Given the description of an element on the screen output the (x, y) to click on. 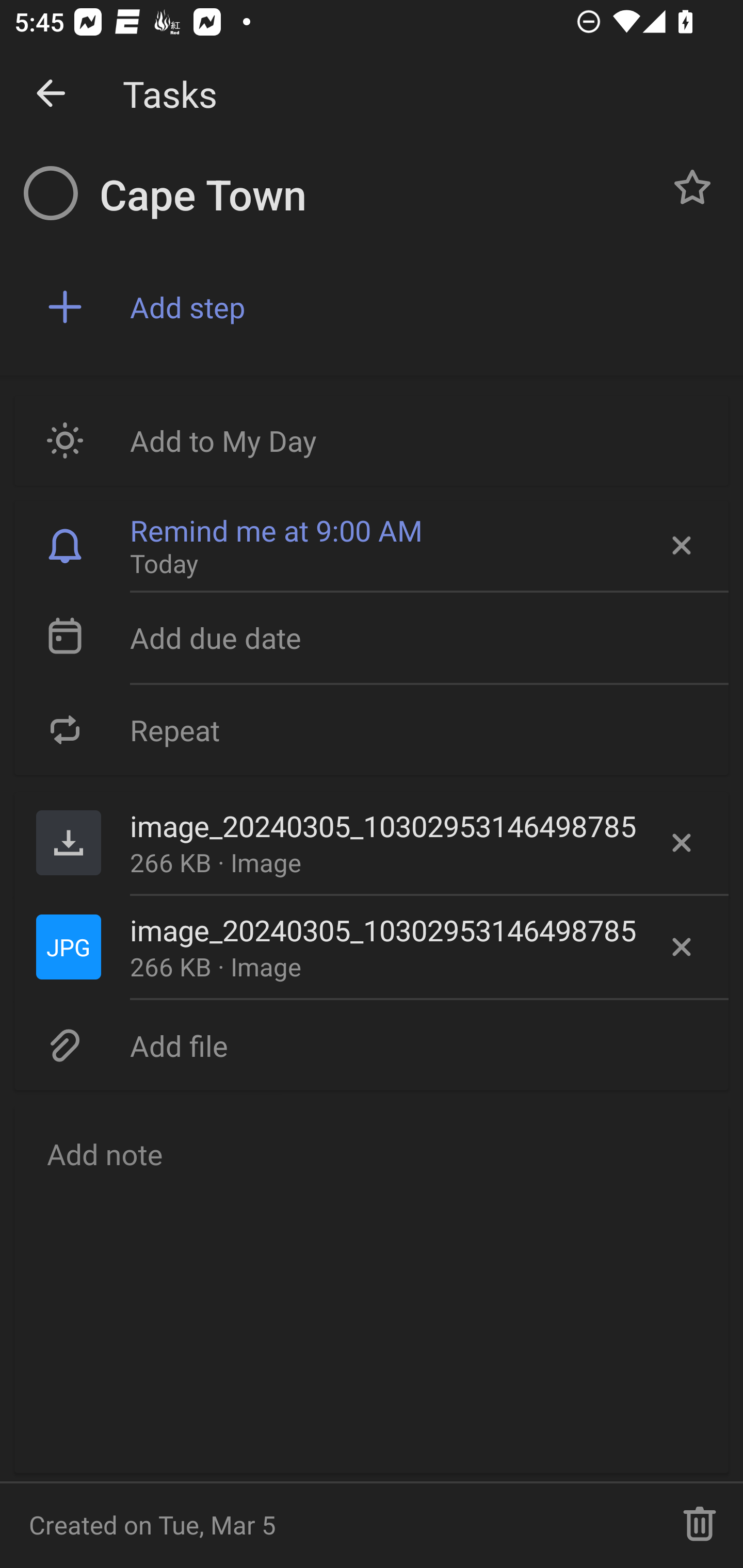
Dismiss detail view (50, 93)
Incomplete task Cape Town, Button (50, 192)
Cape Town (374, 195)
Normal task Cape Town, Button (692, 187)
Add step (422, 307)
Add to My Day (371, 440)
Remind me at 9:00 AM Today Remove reminder (371, 545)
Remove reminder (679, 545)
Add due date (371, 637)
Repeat (371, 729)
Delete file (681, 842)
Delete file (681, 947)
Add file (371, 1044)
Add note, Button Email Renderer Add note (371, 1288)
Delete task (699, 1524)
